Given the description of an element on the screen output the (x, y) to click on. 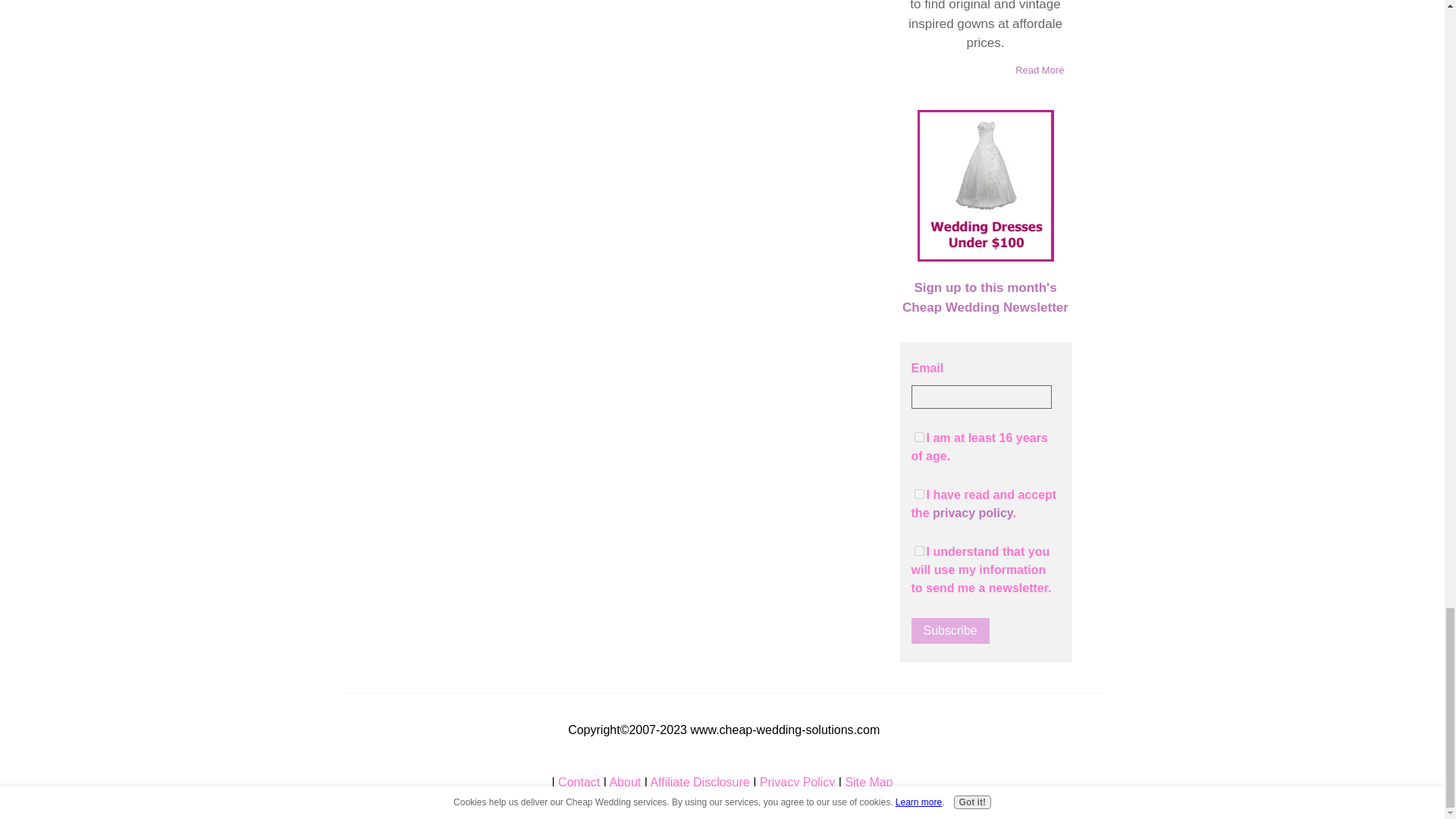
on (919, 493)
on (919, 437)
on (919, 551)
